Given the description of an element on the screen output the (x, y) to click on. 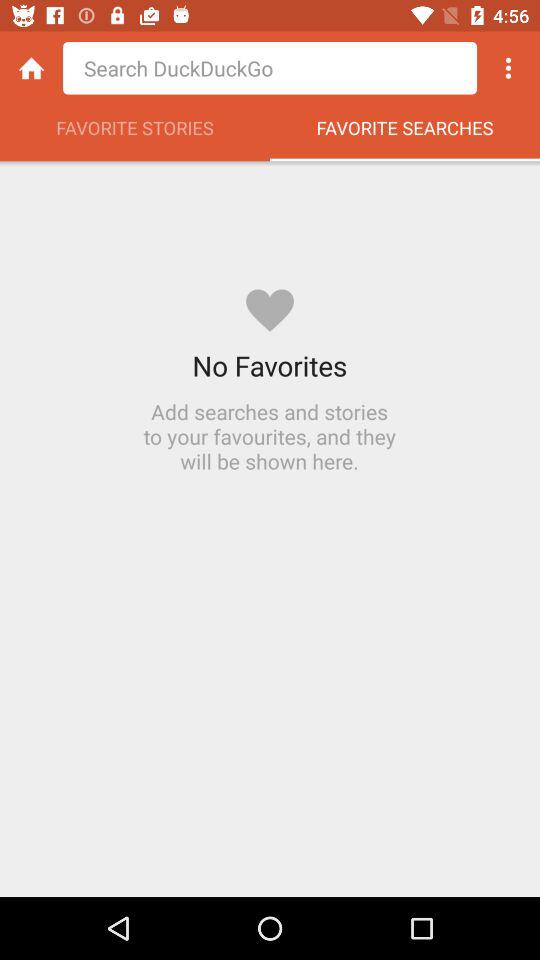
open the app above favorite stories app (269, 67)
